Given the description of an element on the screen output the (x, y) to click on. 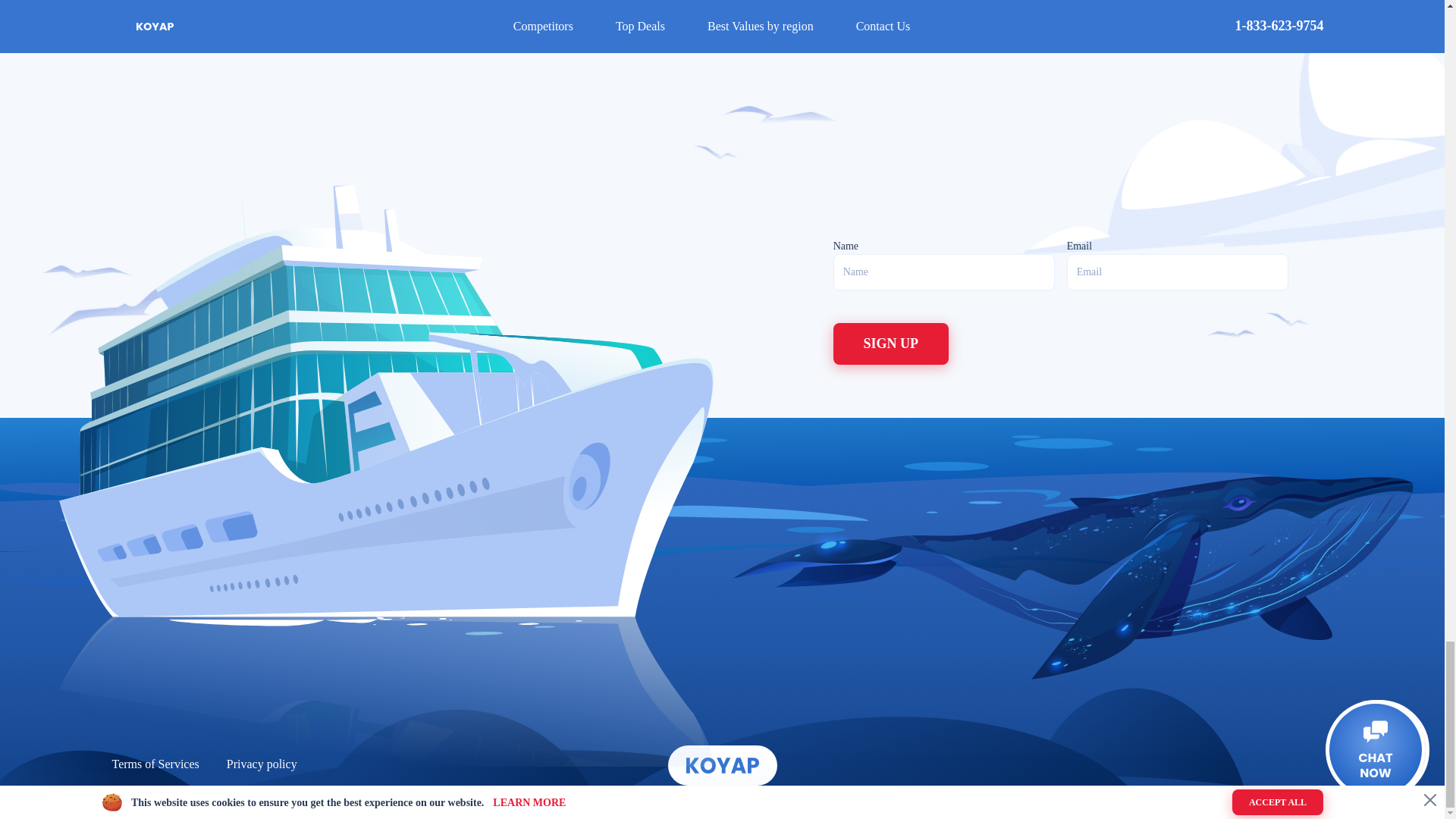
Privacy policy (262, 764)
Terms of Services (155, 764)
Sign up (890, 343)
Sign up (890, 343)
